Given the description of an element on the screen output the (x, y) to click on. 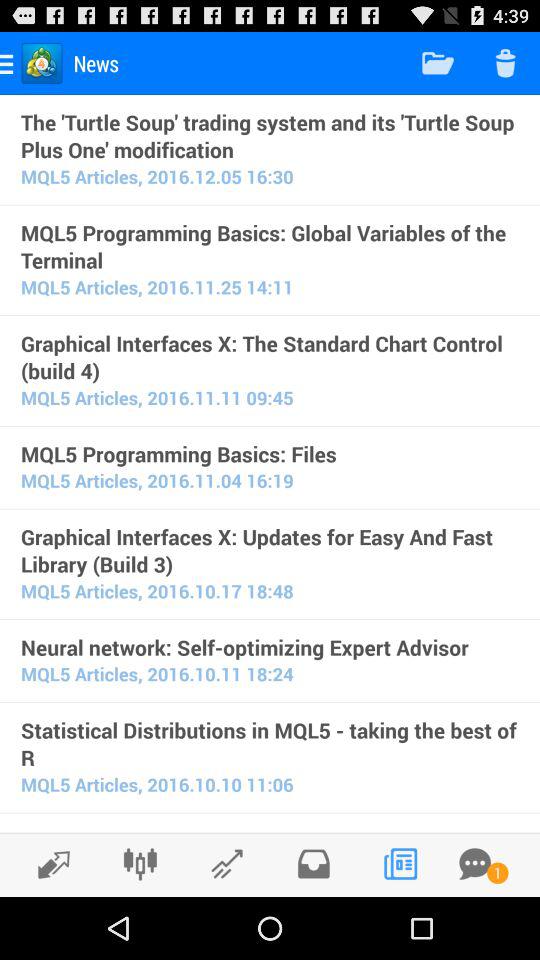
jump to the turtle soup item (270, 135)
